Given the description of an element on the screen output the (x, y) to click on. 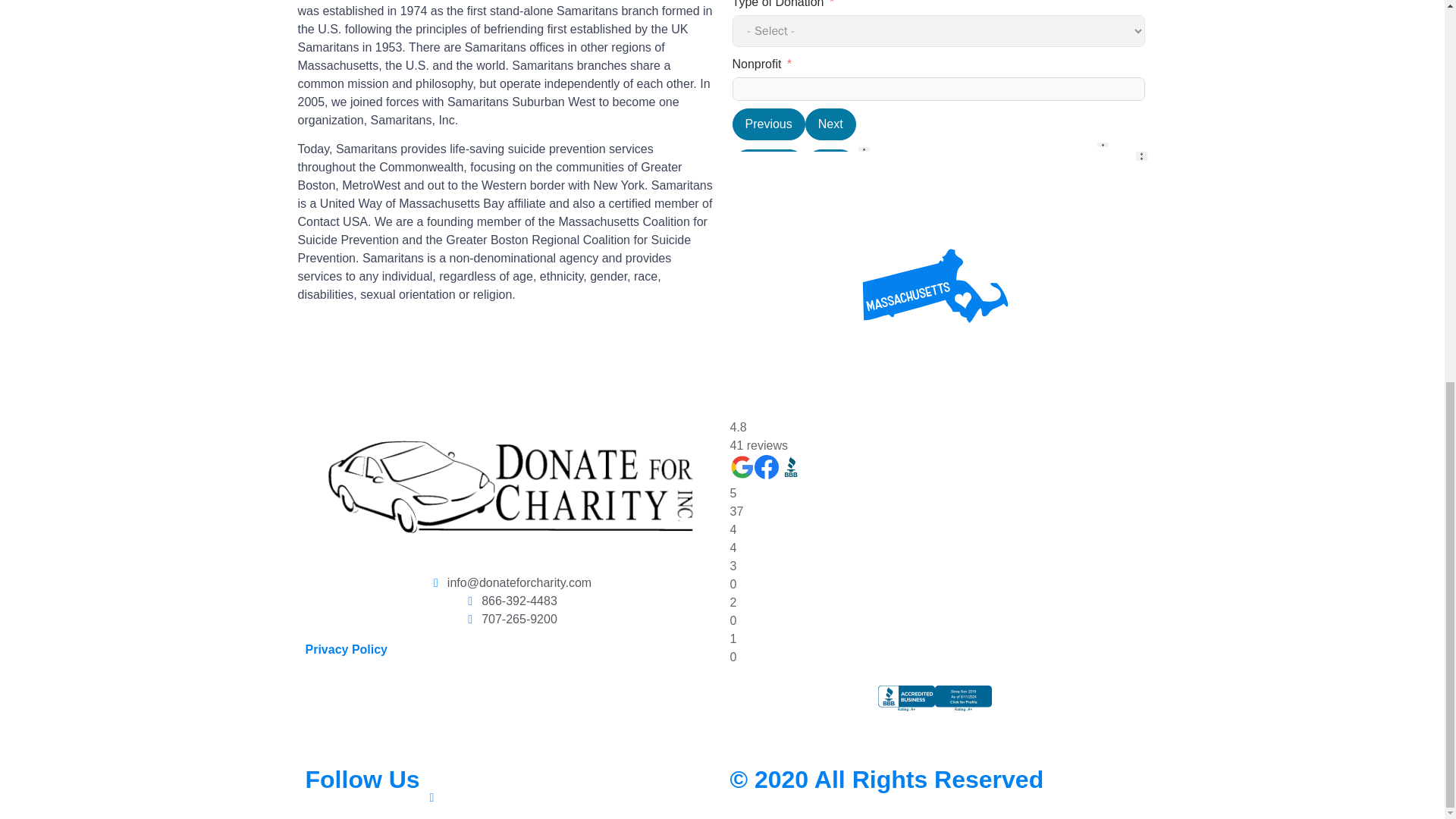
Previous (768, 290)
Next (830, 436)
Previous (768, 436)
Next (830, 164)
Previous (768, 164)
Next (830, 290)
yes (737, 402)
Next (830, 124)
707-265-9200 (509, 619)
